Given the description of an element on the screen output the (x, y) to click on. 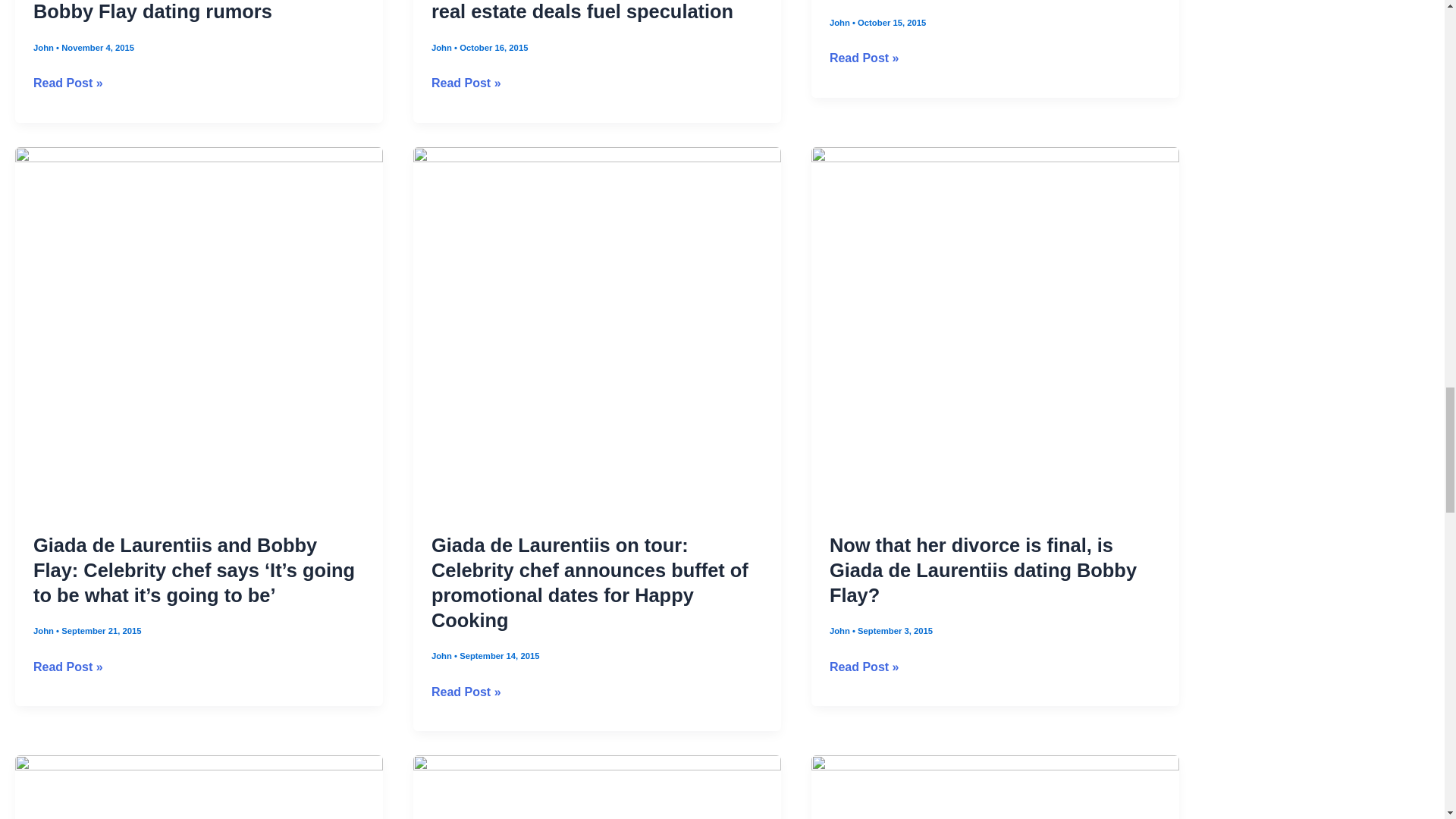
View all posts by John (442, 47)
View all posts by John (840, 22)
View all posts by John (44, 630)
View all posts by John (840, 630)
View all posts by John (44, 47)
View all posts by John (442, 655)
